Given the description of an element on the screen output the (x, y) to click on. 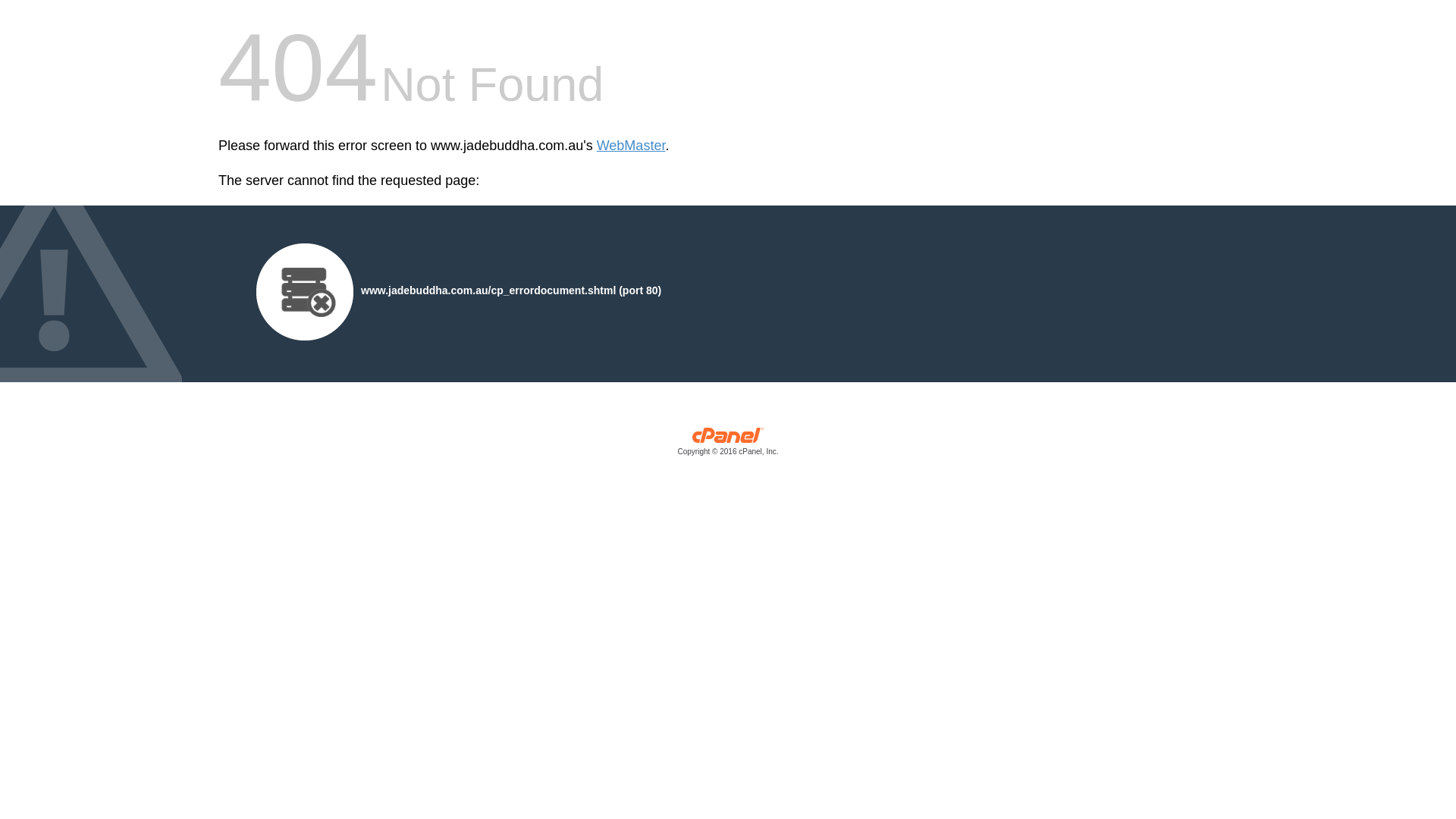
WebMaster Element type: text (630, 145)
